Given the description of an element on the screen output the (x, y) to click on. 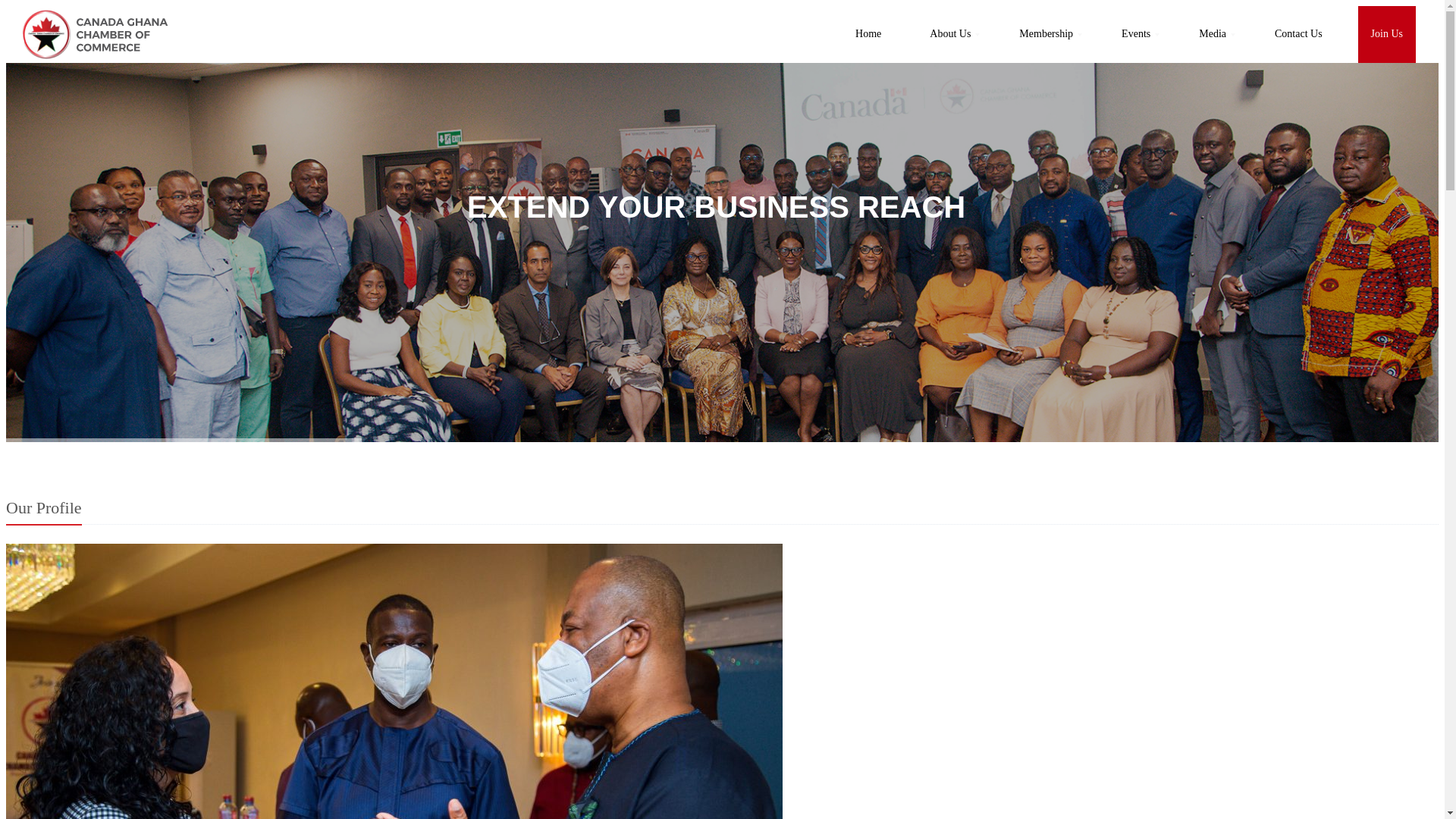
Canada Ghana Chamber of Commerce (94, 34)
Join Us (1386, 34)
Membership (1046, 34)
Media (1212, 34)
Contact Us (1298, 34)
Home (868, 34)
Events (1135, 34)
About Us (950, 34)
